Given the description of an element on the screen output the (x, y) to click on. 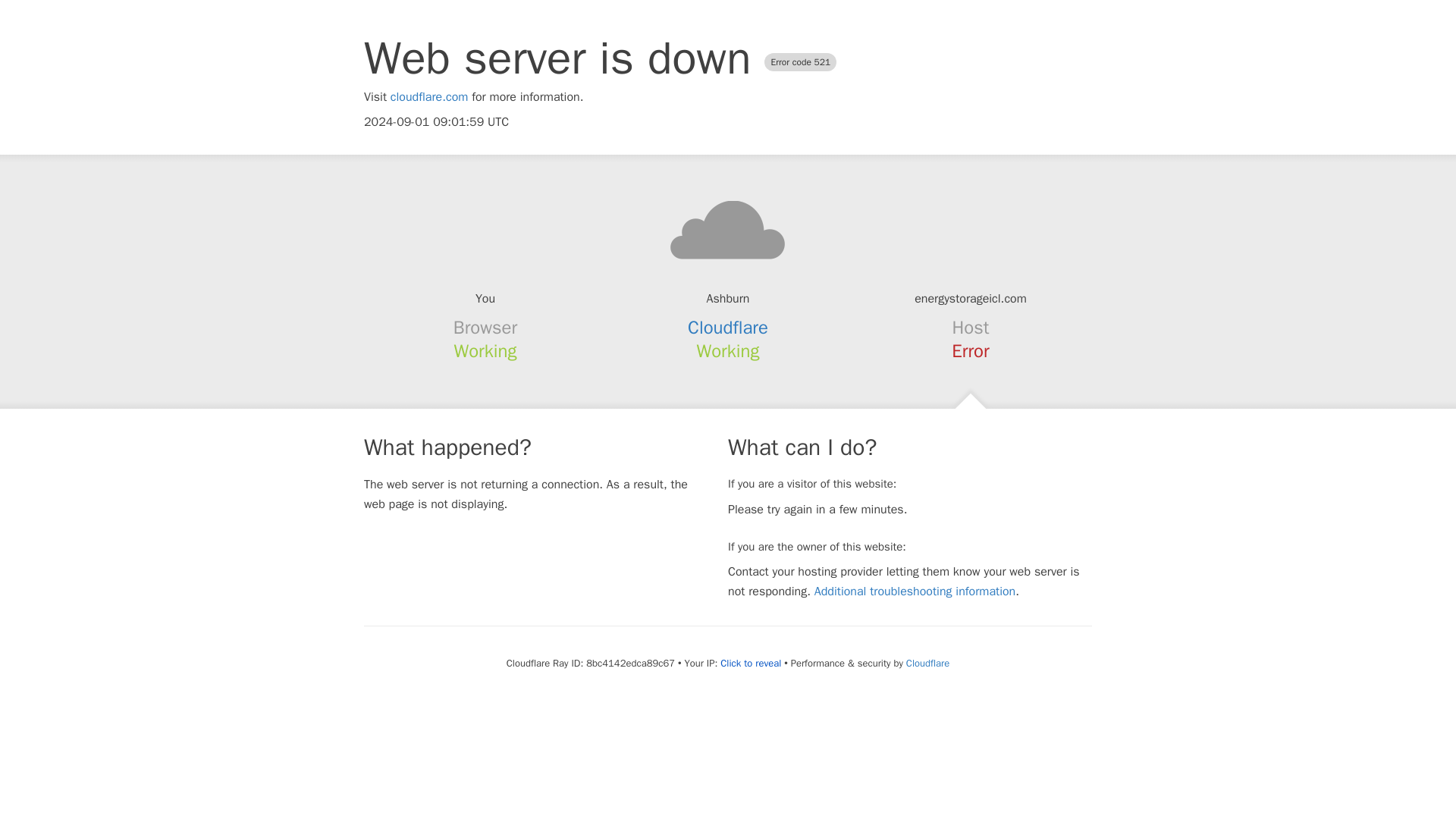
Cloudflare (727, 327)
Additional troubleshooting information (913, 590)
Cloudflare (927, 662)
cloudflare.com (429, 96)
Click to reveal (750, 663)
